Given the description of an element on the screen output the (x, y) to click on. 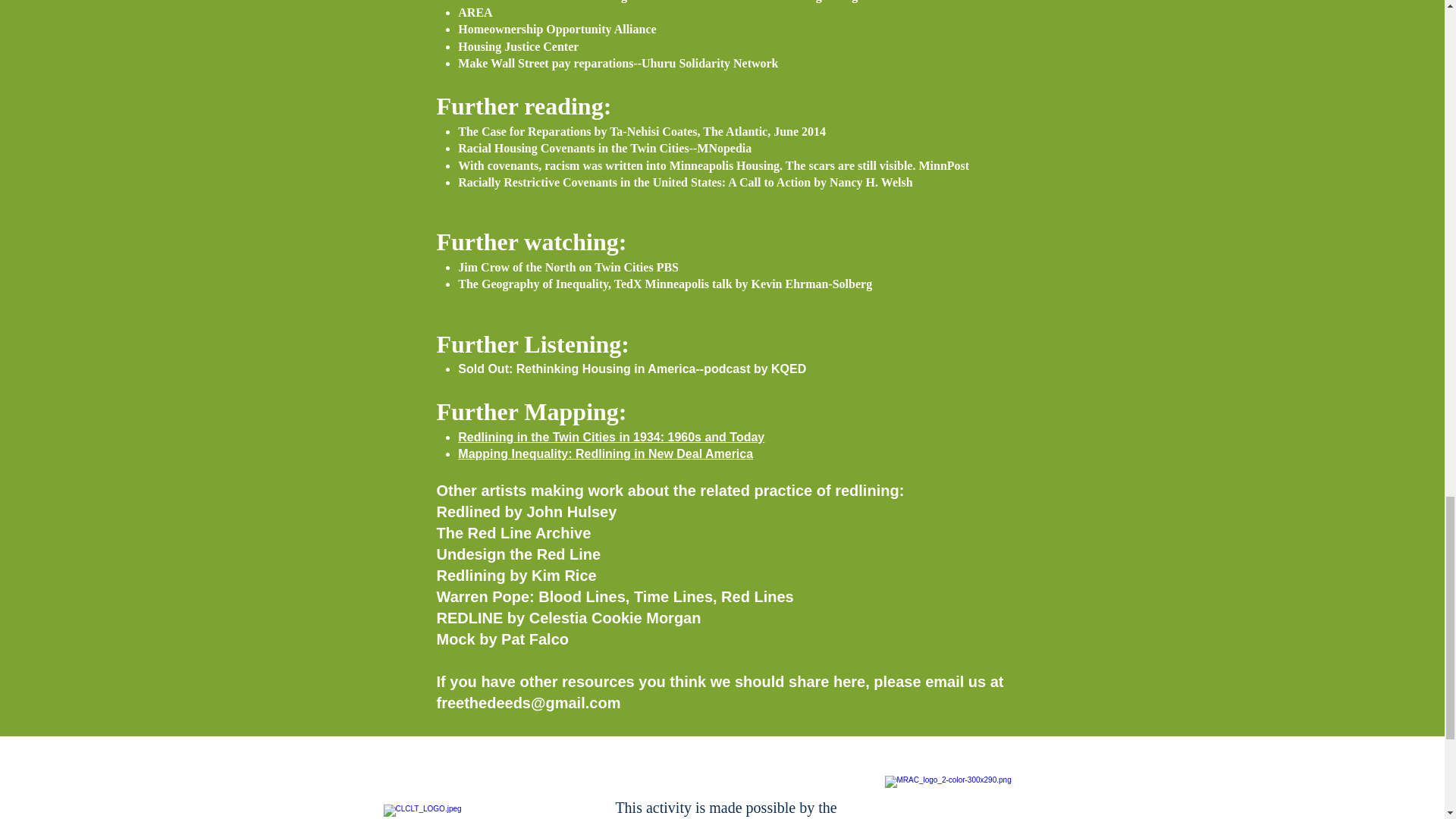
Undesign the Red Line (518, 554)
Mapping Inequality: Redlining in New Deal America (605, 453)
Make Wall Street pay reparations--Uhuru Solidarity Network (617, 62)
Redlined by John Hulsey (526, 511)
Homeownership Opportunity Alliance (557, 29)
Warren Pope: Blood Lines, Time Lines, Red Lines (614, 596)
Jim Crow of the North on Twin Cities PBS (568, 267)
AREA (475, 11)
